Given the description of an element on the screen output the (x, y) to click on. 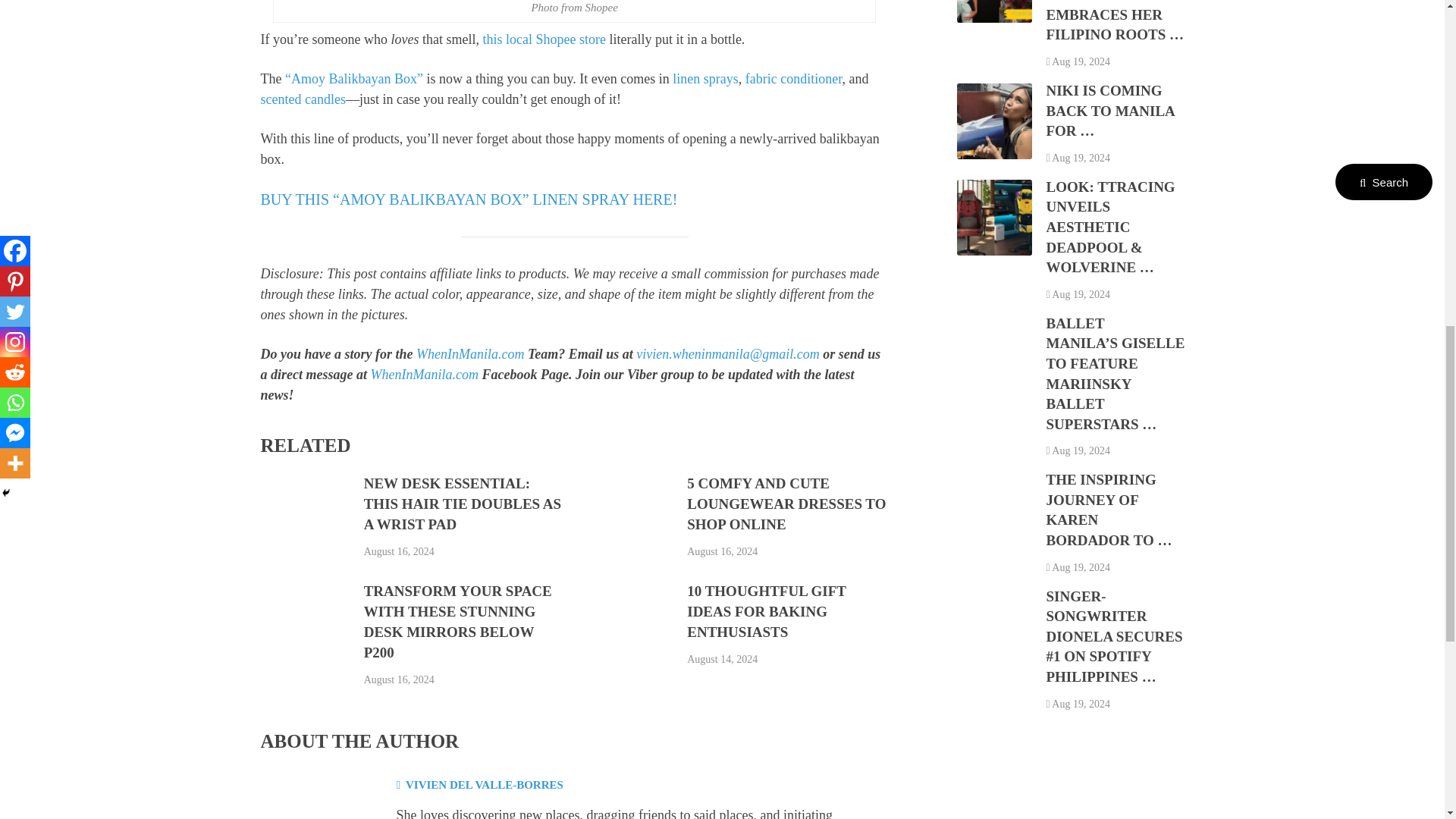
New Desk Essential: This Hair Tie Doubles As a Wrist Pad 2 (305, 521)
5 Comfy and Cute Loungewear Dresses to Shop Online 3 (627, 521)
New Desk Essential: This Hair Tie Doubles As a Wrist Pad (462, 503)
5 Comfy and Cute Loungewear Dresses to Shop Online (786, 503)
